Given the description of an element on the screen output the (x, y) to click on. 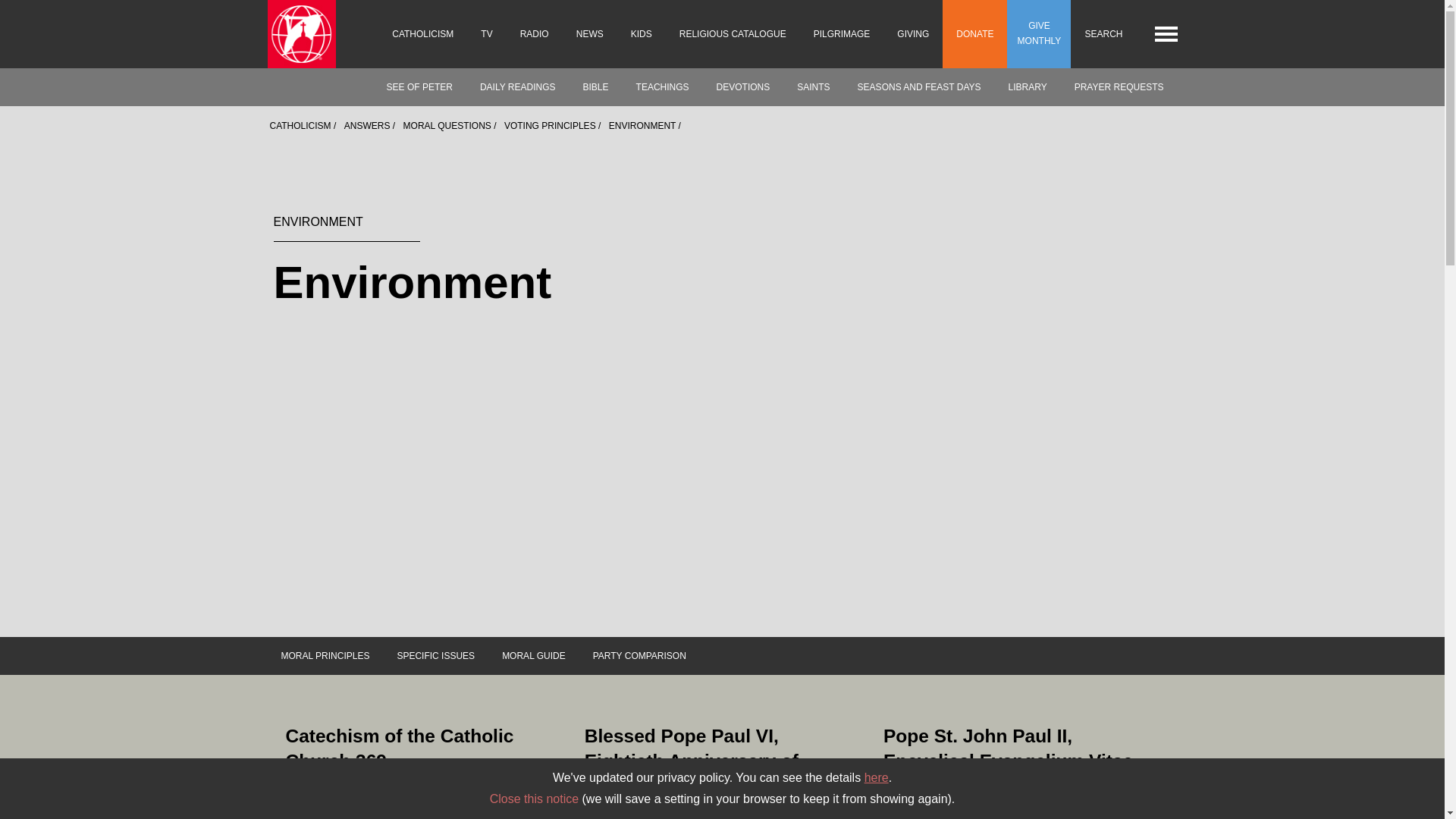
GIVE MONTHLY (1038, 33)
SEARCH (1102, 33)
DONATE (974, 33)
CATHOLICISM (422, 33)
PILGRIMAGE (841, 33)
RELIGIOUS CATALOGUE (732, 33)
